Given the description of an element on the screen output the (x, y) to click on. 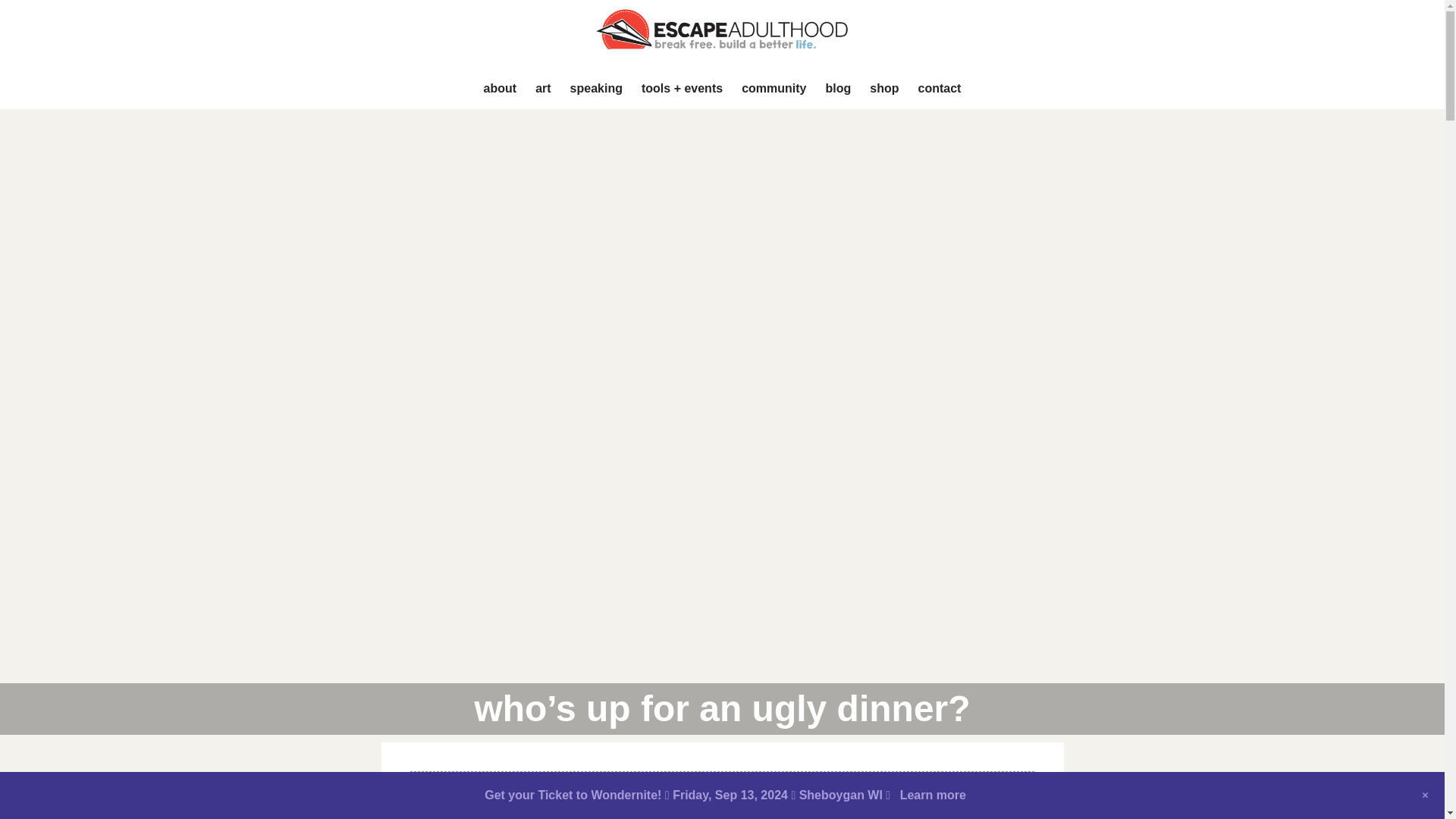
art (542, 88)
about (500, 88)
speaking (596, 88)
community (773, 88)
ESCAPE ADULTHOOD (721, 32)
